Given the description of an element on the screen output the (x, y) to click on. 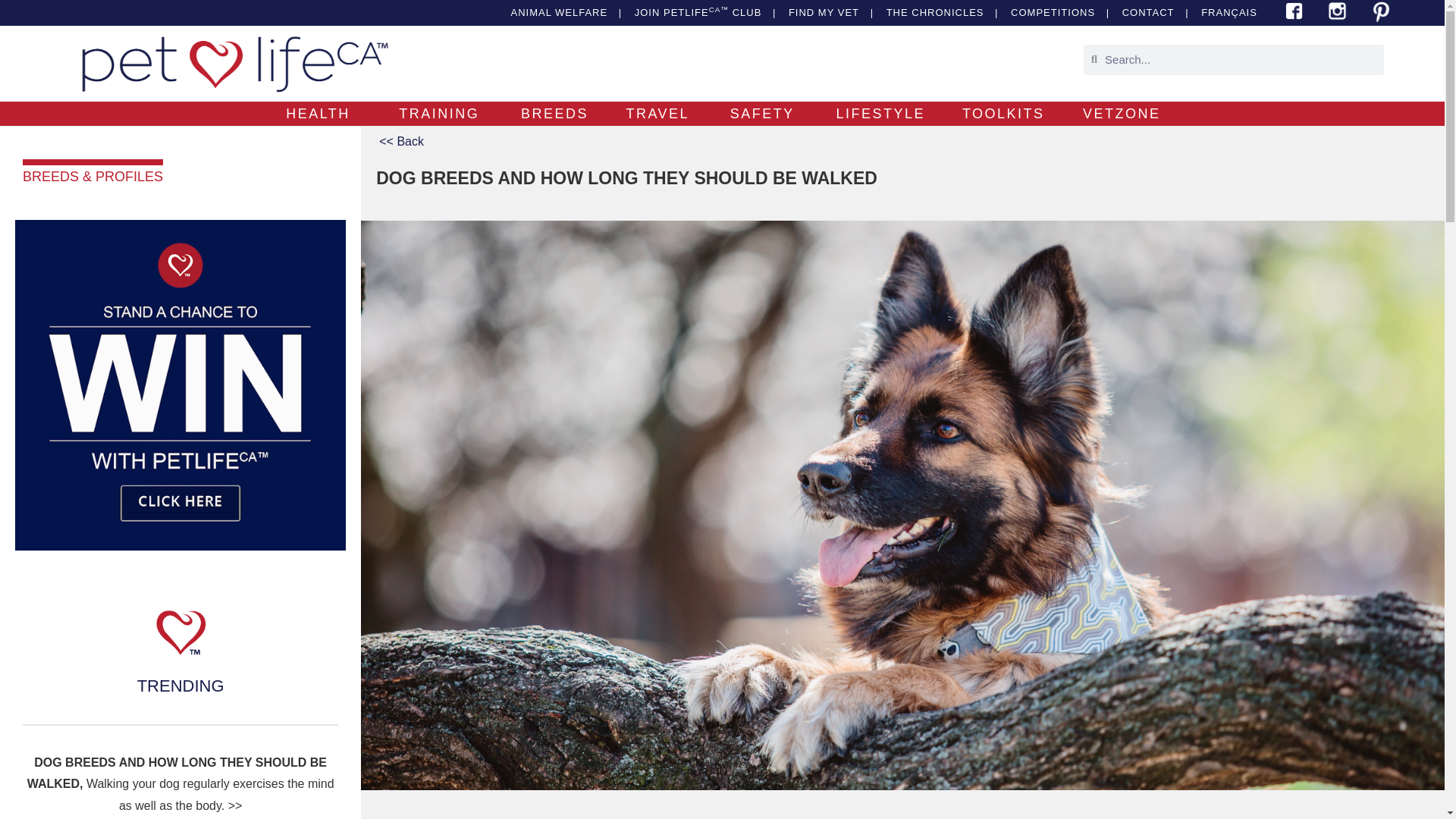
COMPETITIONS (1051, 11)
LIFESTYLE (879, 113)
THE CHRONICLES (934, 11)
ANIMAL WELFARE (557, 11)
HEALTH (317, 113)
TOOLKITS (1003, 113)
CONTACT (1147, 11)
TRAINING (438, 113)
FIND MY VET (822, 11)
BREEDS (554, 113)
